Given the description of an element on the screen output the (x, y) to click on. 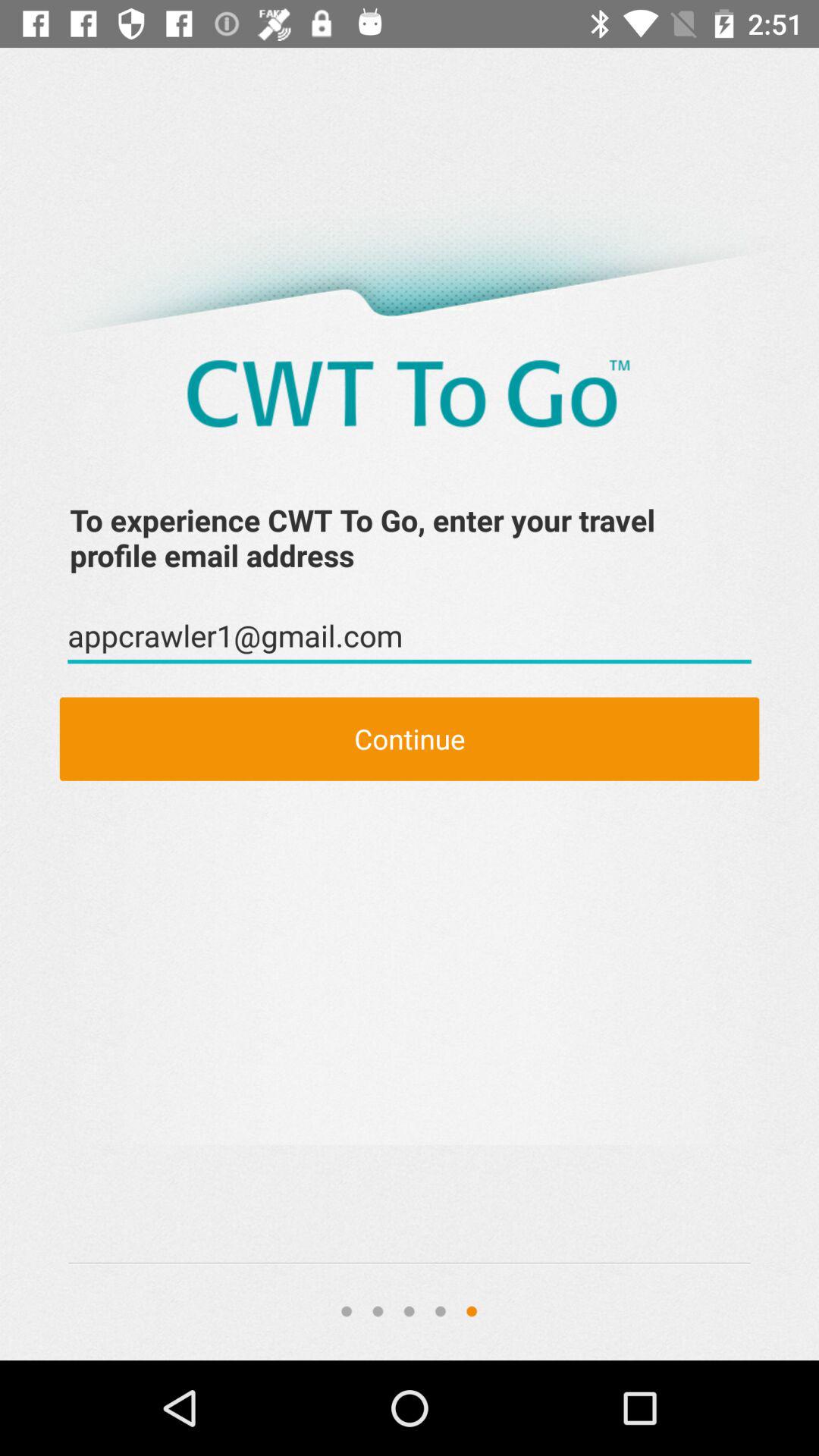
select continue item (409, 738)
